Given the description of an element on the screen output the (x, y) to click on. 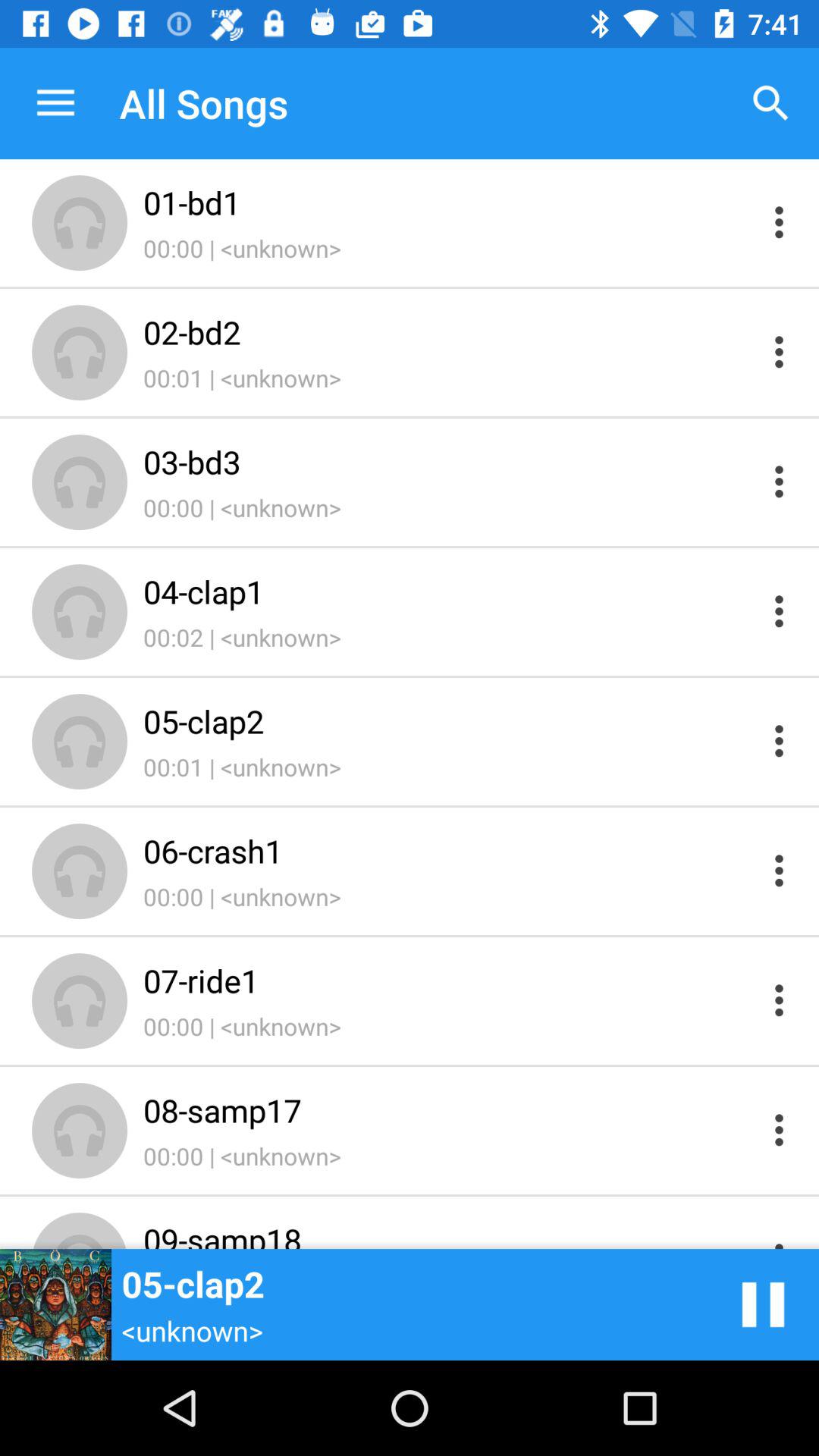
more information (779, 870)
